Given the description of an element on the screen output the (x, y) to click on. 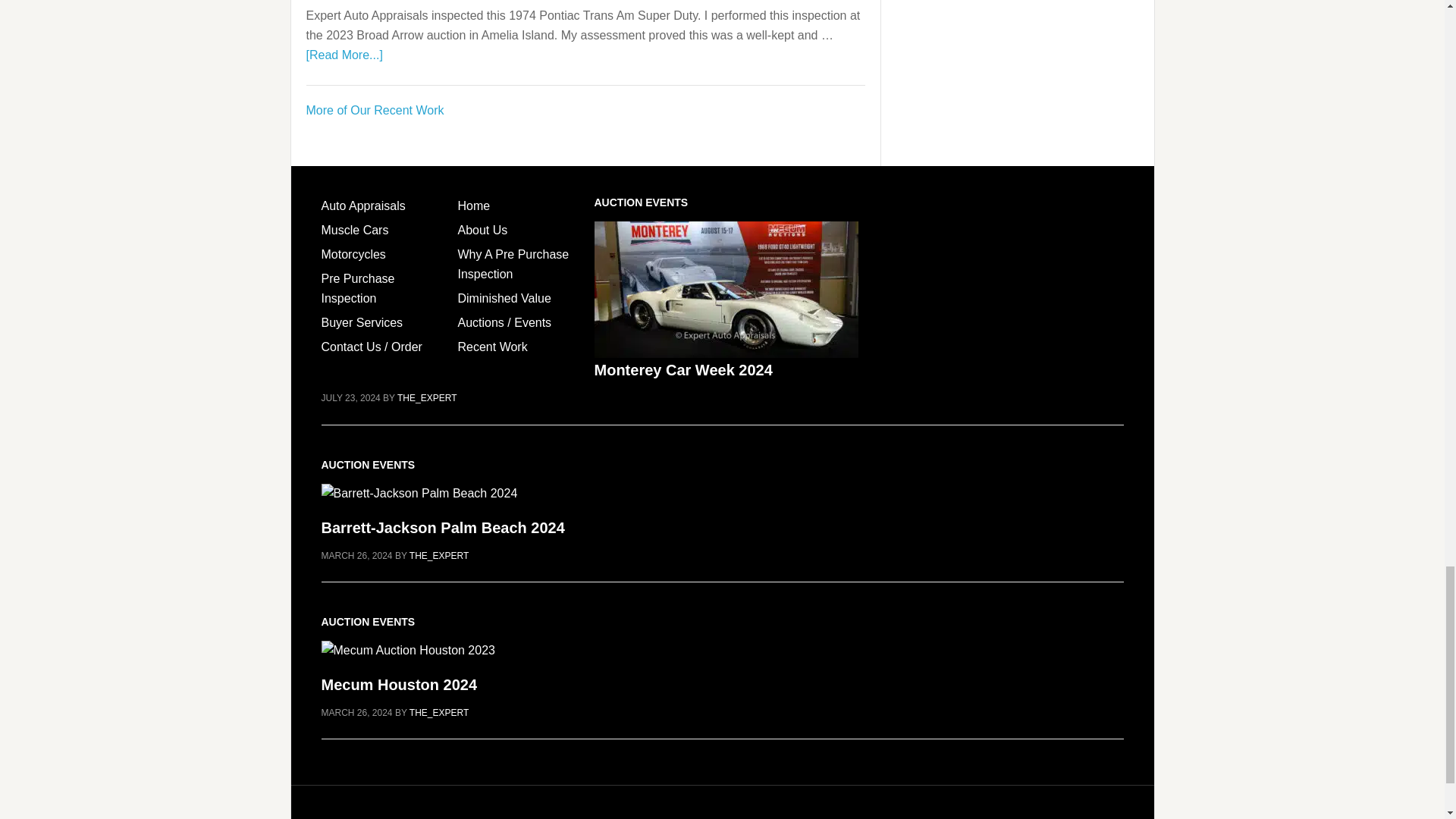
More of Our Recent Work (374, 110)
Our Recent Work (374, 110)
Ebay Buyer Services (362, 322)
